Given the description of an element on the screen output the (x, y) to click on. 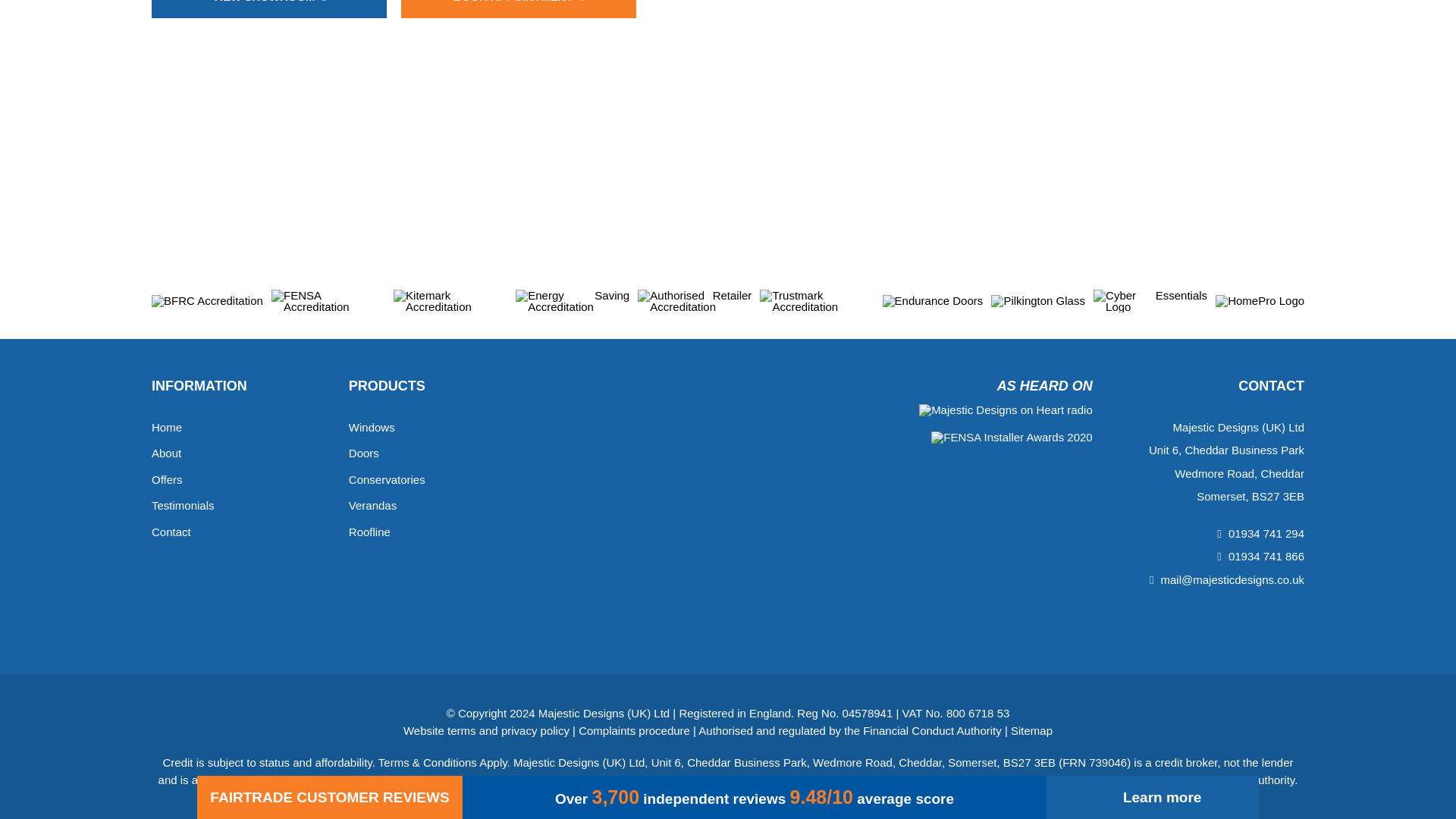
View showroom (269, 9)
View our complaints procedure (634, 730)
Book appointment (518, 9)
View the sites terms and conditions (486, 730)
